Given the description of an element on the screen output the (x, y) to click on. 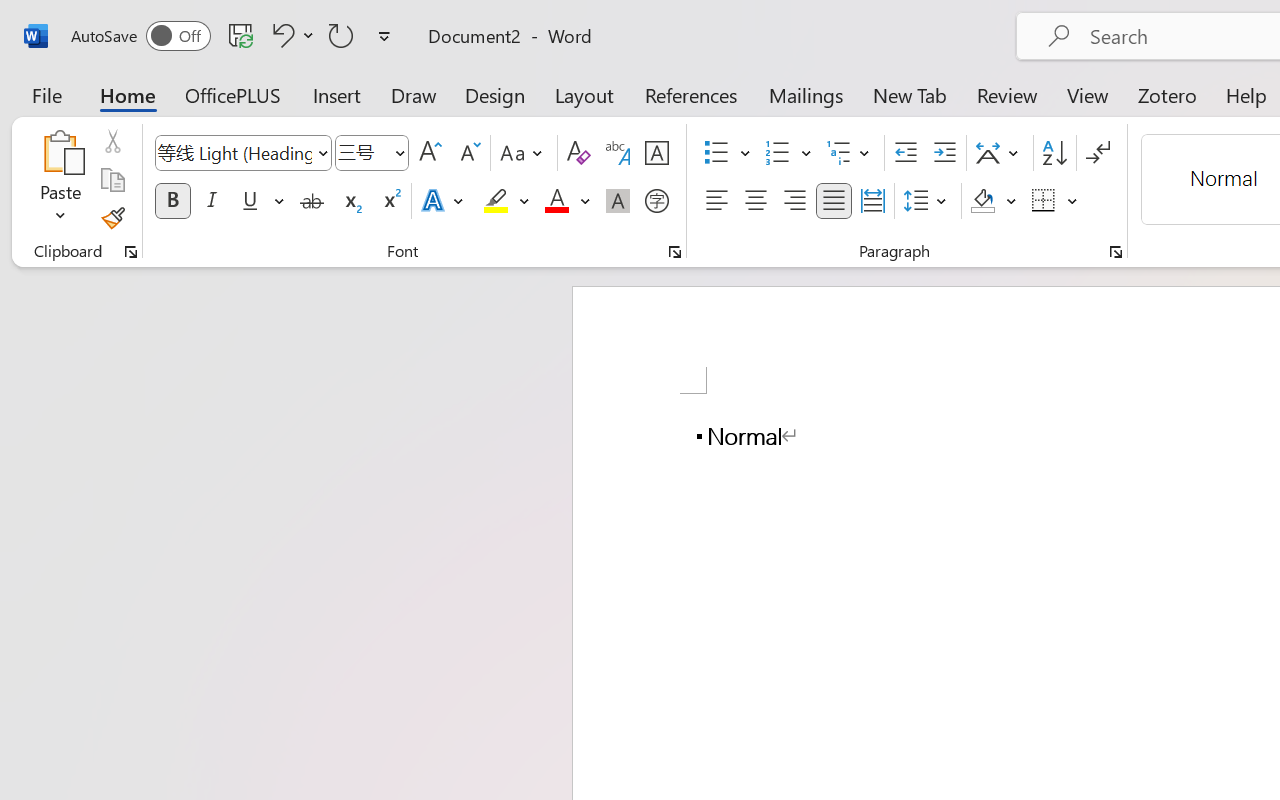
Paste (60, 151)
Design (495, 94)
Format Painter (112, 218)
References (690, 94)
Font (242, 153)
Bold (172, 201)
Save (241, 35)
Enclose Characters... (656, 201)
Font Size (372, 153)
Shrink Font (468, 153)
Text Highlight Color (506, 201)
Layout (584, 94)
Subscript (350, 201)
Customize Quick Access Toolbar (384, 35)
